Given the description of an element on the screen output the (x, y) to click on. 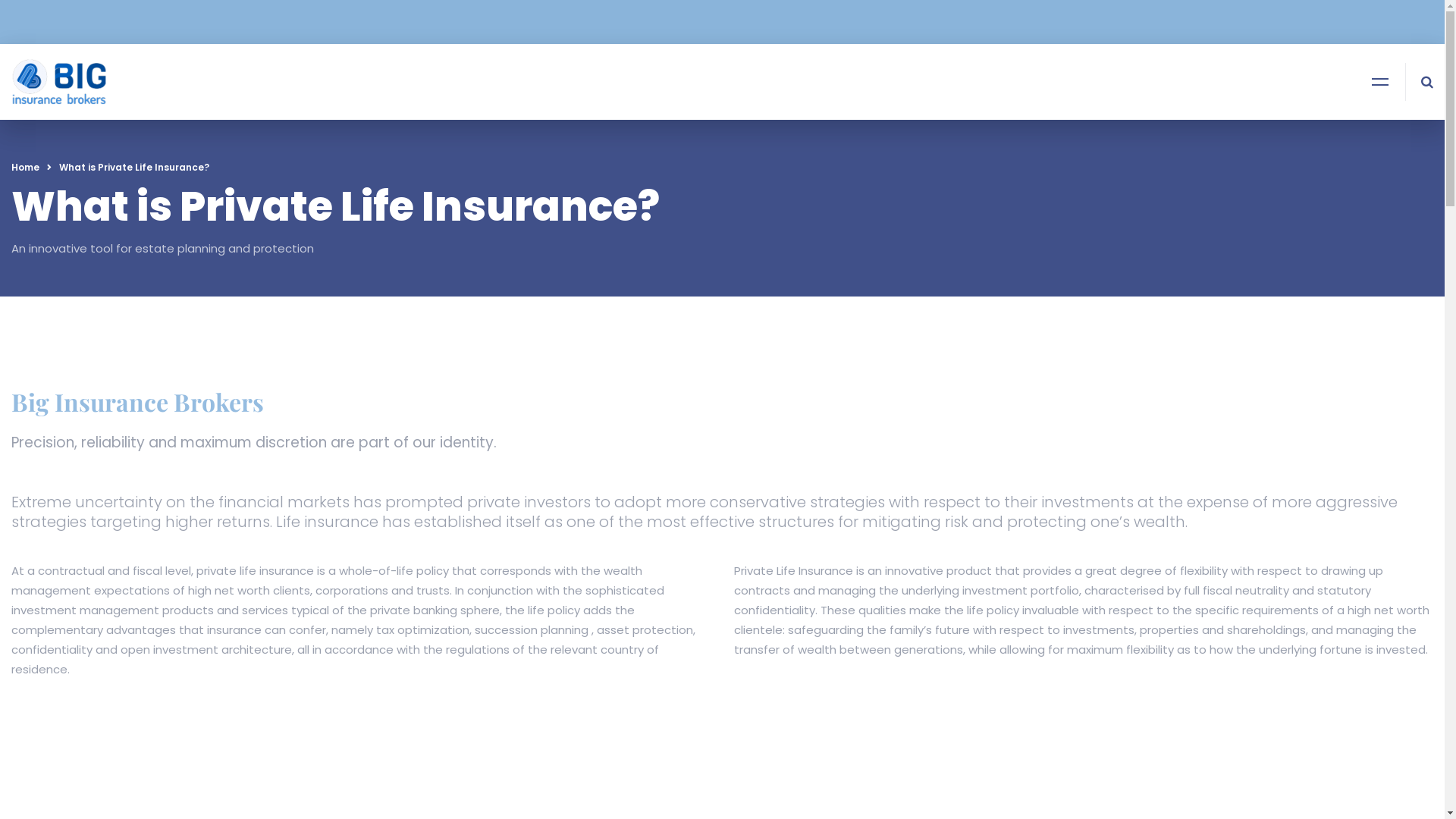
Home Element type: text (25, 166)
